Given the description of an element on the screen output the (x, y) to click on. 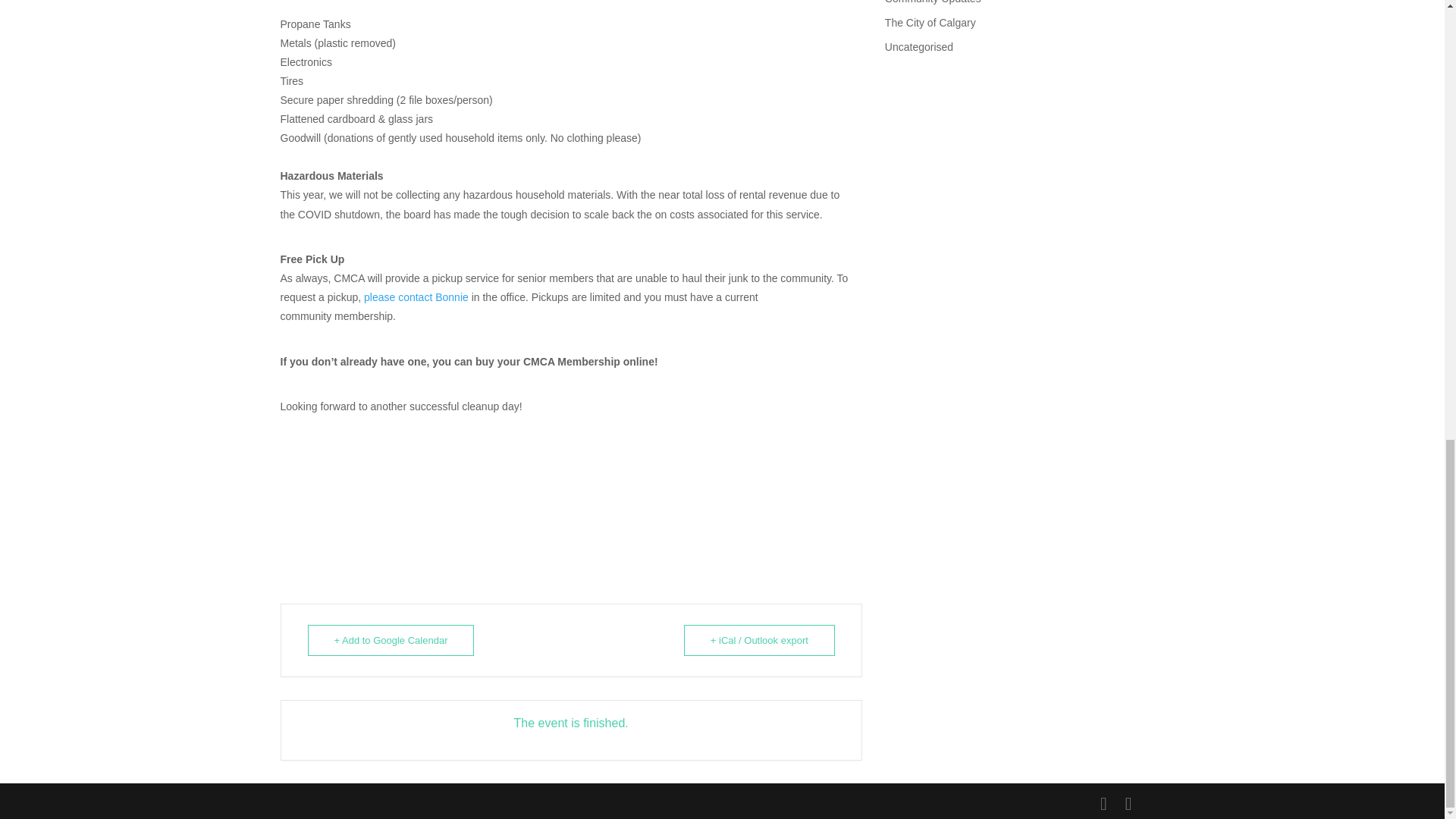
please contact Bonnie (416, 297)
